Given the description of an element on the screen output the (x, y) to click on. 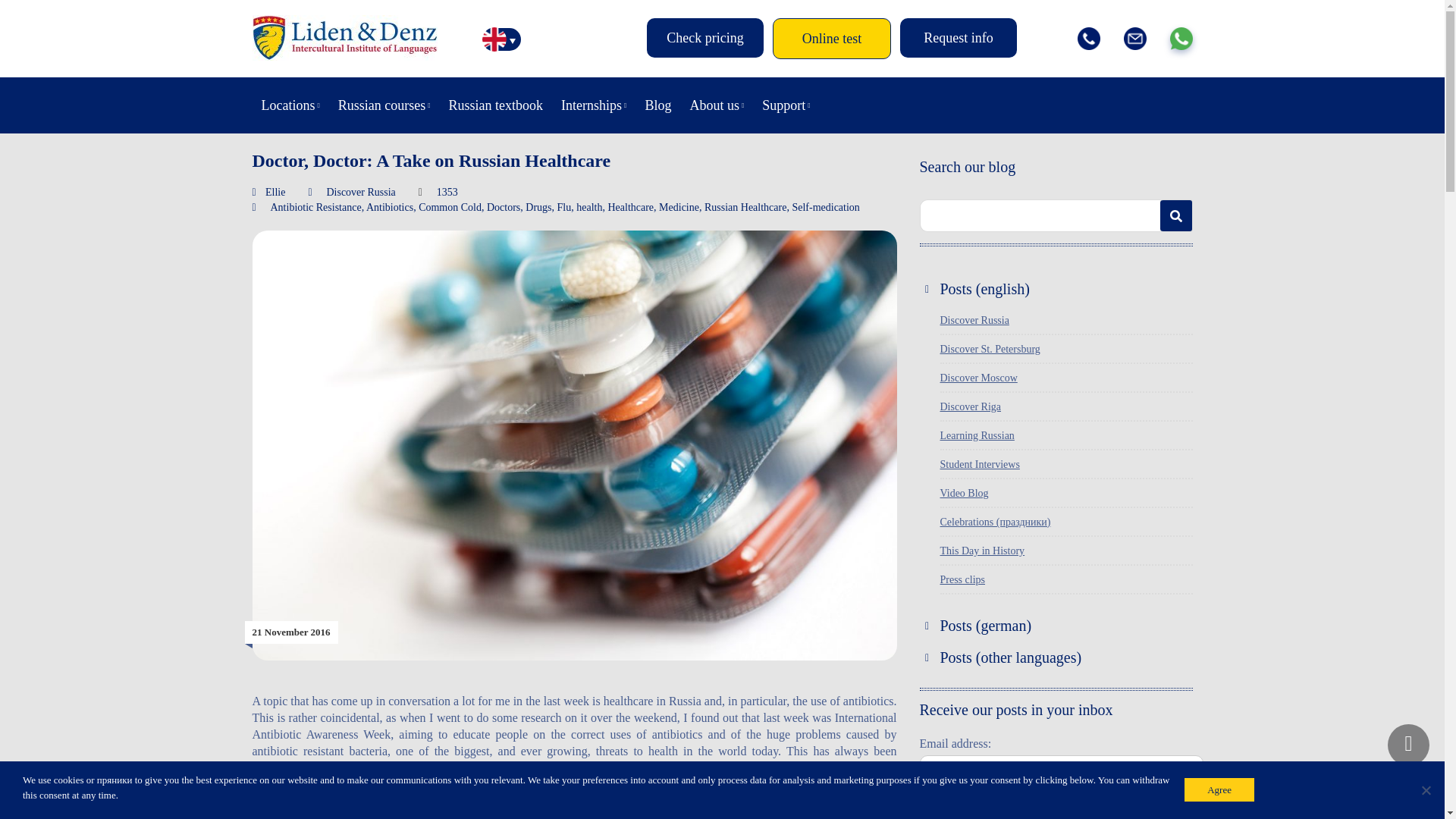
Request info (957, 37)
Check pricing (704, 37)
Online test (832, 38)
Russian courses (384, 104)
Locations (290, 104)
Search (1176, 215)
